Given the description of an element on the screen output the (x, y) to click on. 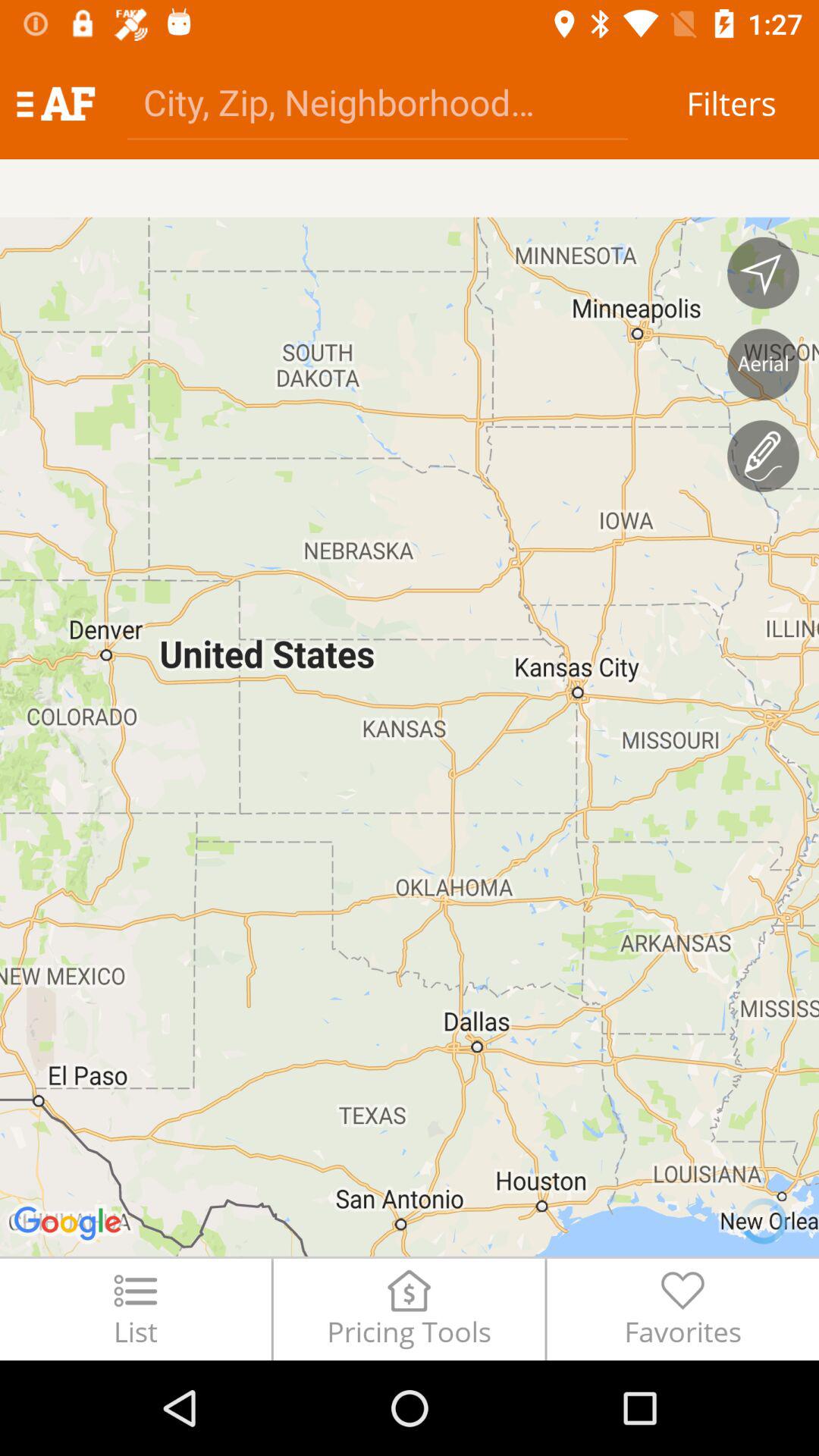
swipe until list (135, 1309)
